Given the description of an element on the screen output the (x, y) to click on. 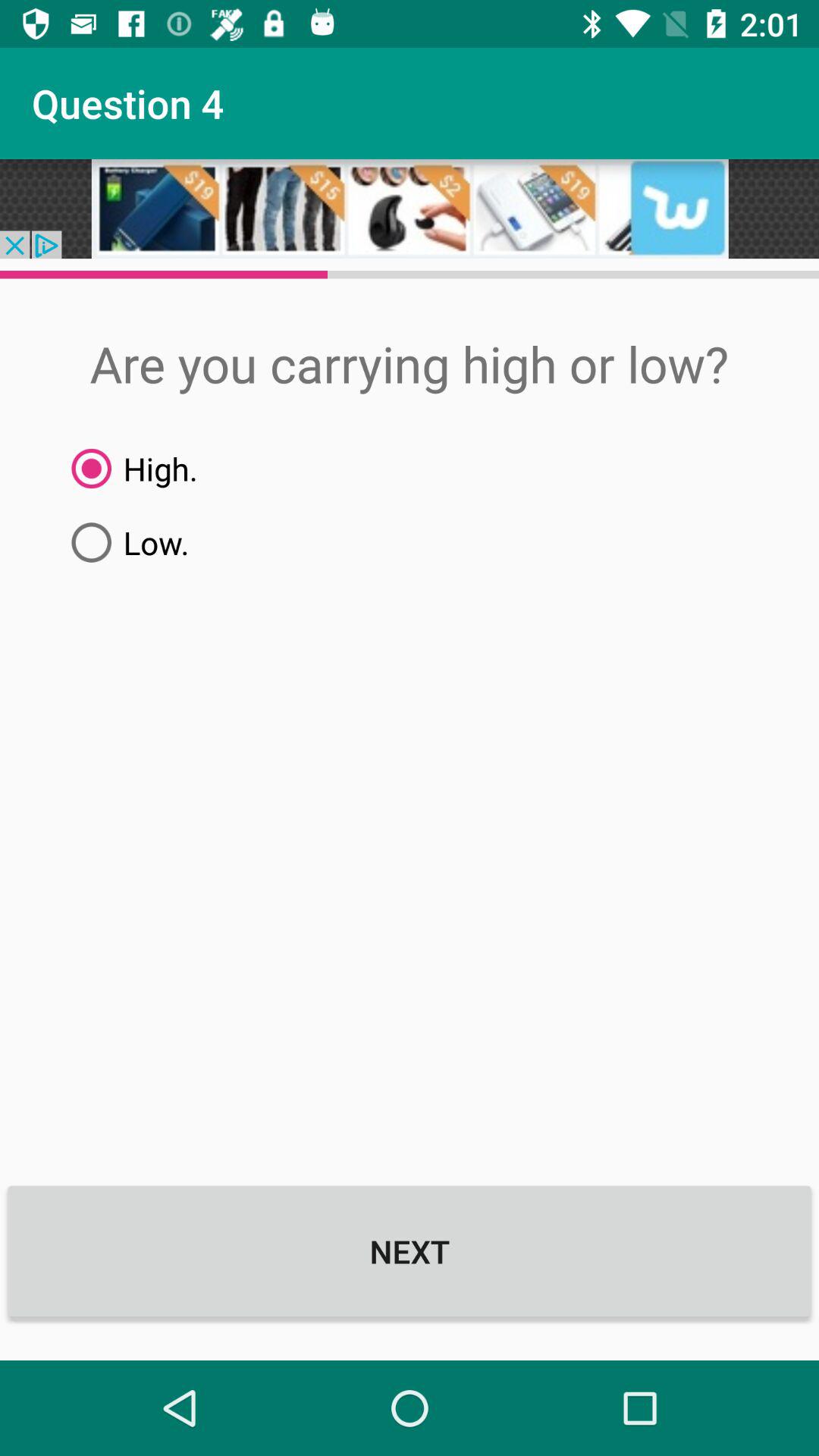
visit advertisement (409, 208)
